Given the description of an element on the screen output the (x, y) to click on. 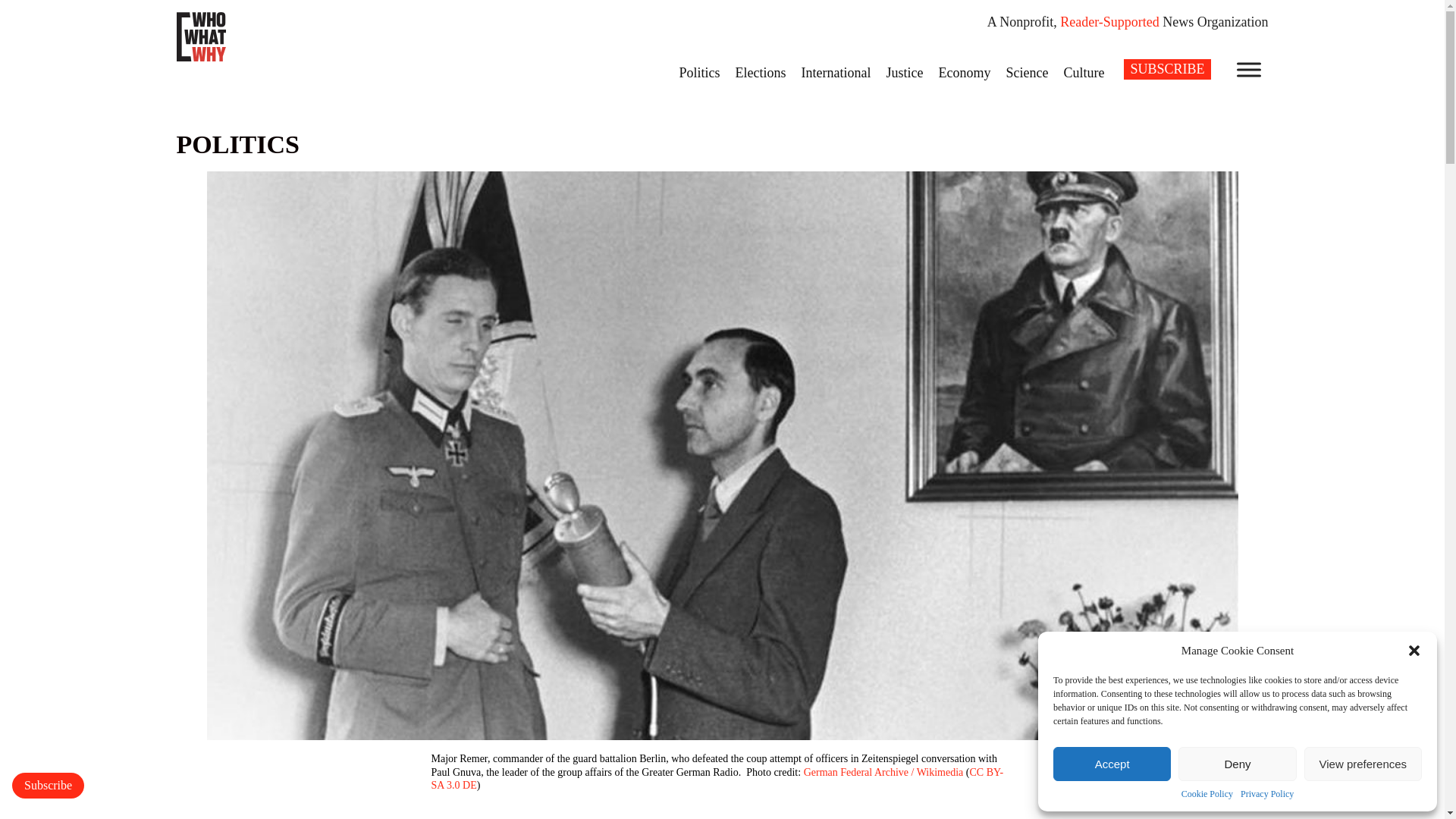
Economy (963, 72)
Accept (1111, 763)
Privacy Policy (1267, 794)
Politics (699, 72)
Reader-Supported (1108, 21)
Justice (903, 72)
Deny (1236, 763)
Science (1026, 72)
Elections (760, 72)
Search (21, 7)
